Given the description of an element on the screen output the (x, y) to click on. 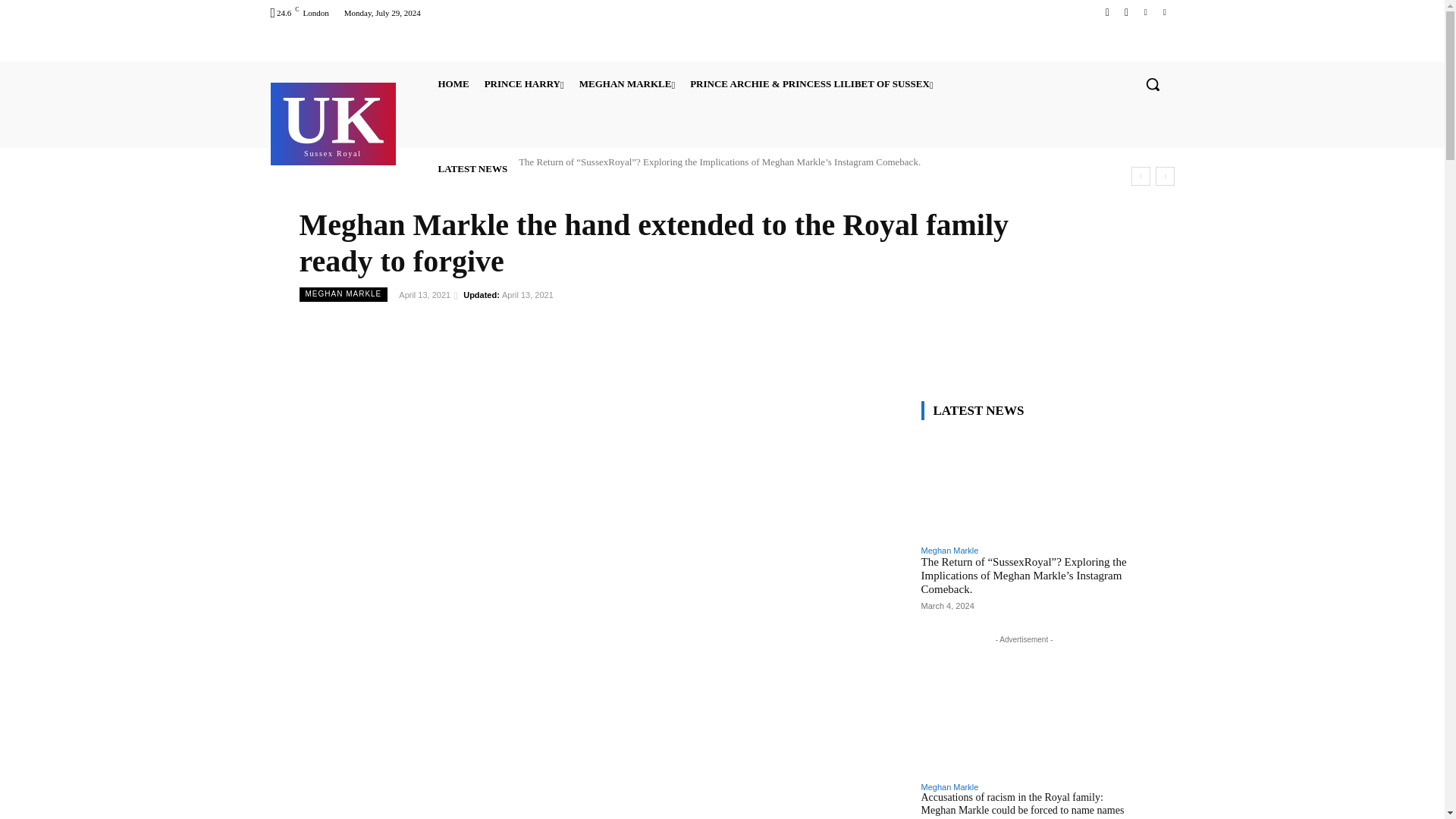
HOME (333, 122)
PRINCE HARRY (454, 83)
